Given the description of an element on the screen output the (x, y) to click on. 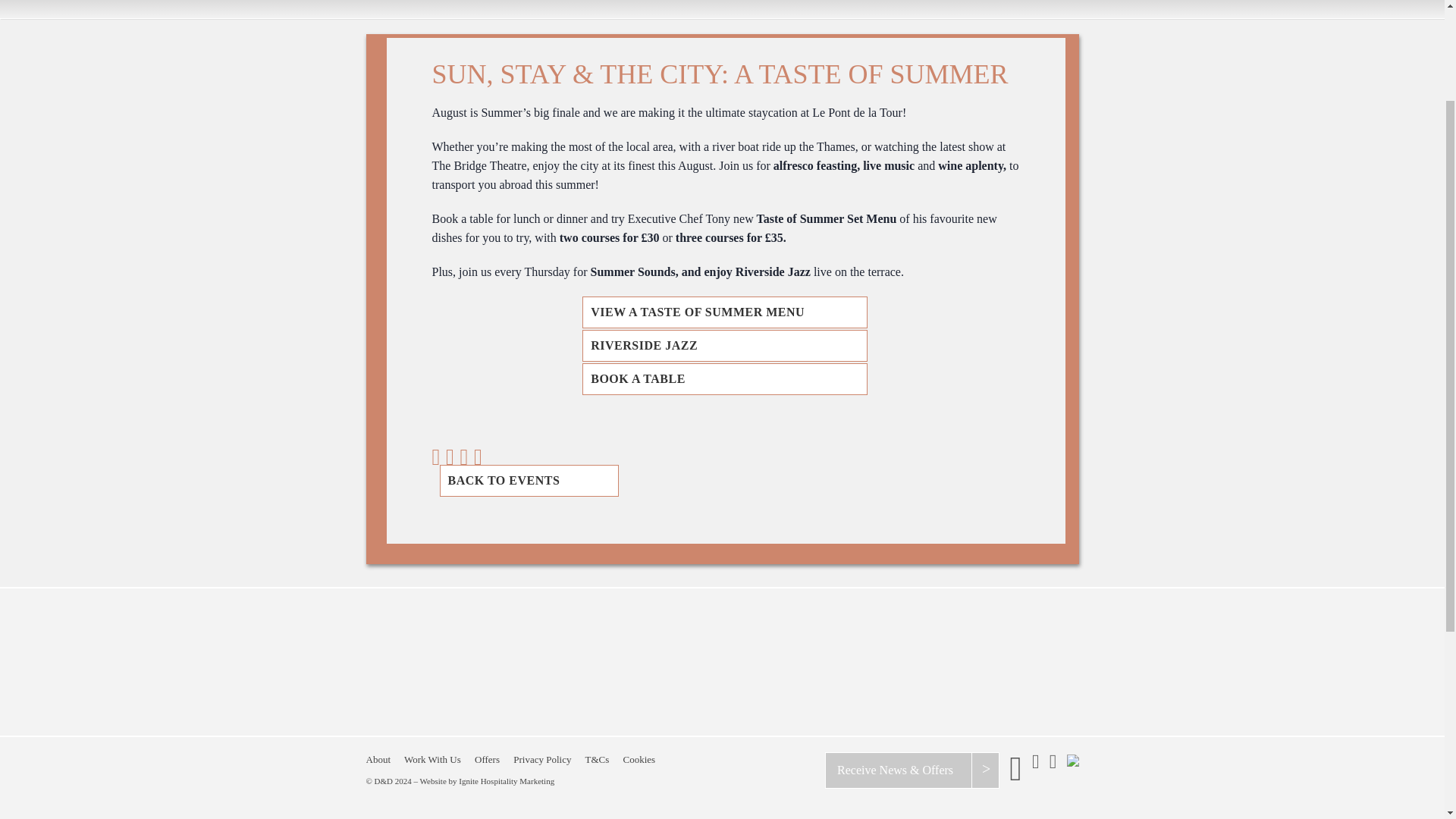
Privacy Policy (541, 758)
Book Now (960, 688)
Offers (486, 758)
BOOK A TABLE (724, 378)
WEDDINGS (769, 0)
About (377, 758)
FIND US (1010, 0)
VIEW A TASTE OF SUMMER MENU (724, 312)
WHAT'S ON (903, 0)
RIVERSIDE JAZZ (724, 345)
Work With Us (432, 758)
